Given the description of an element on the screen output the (x, y) to click on. 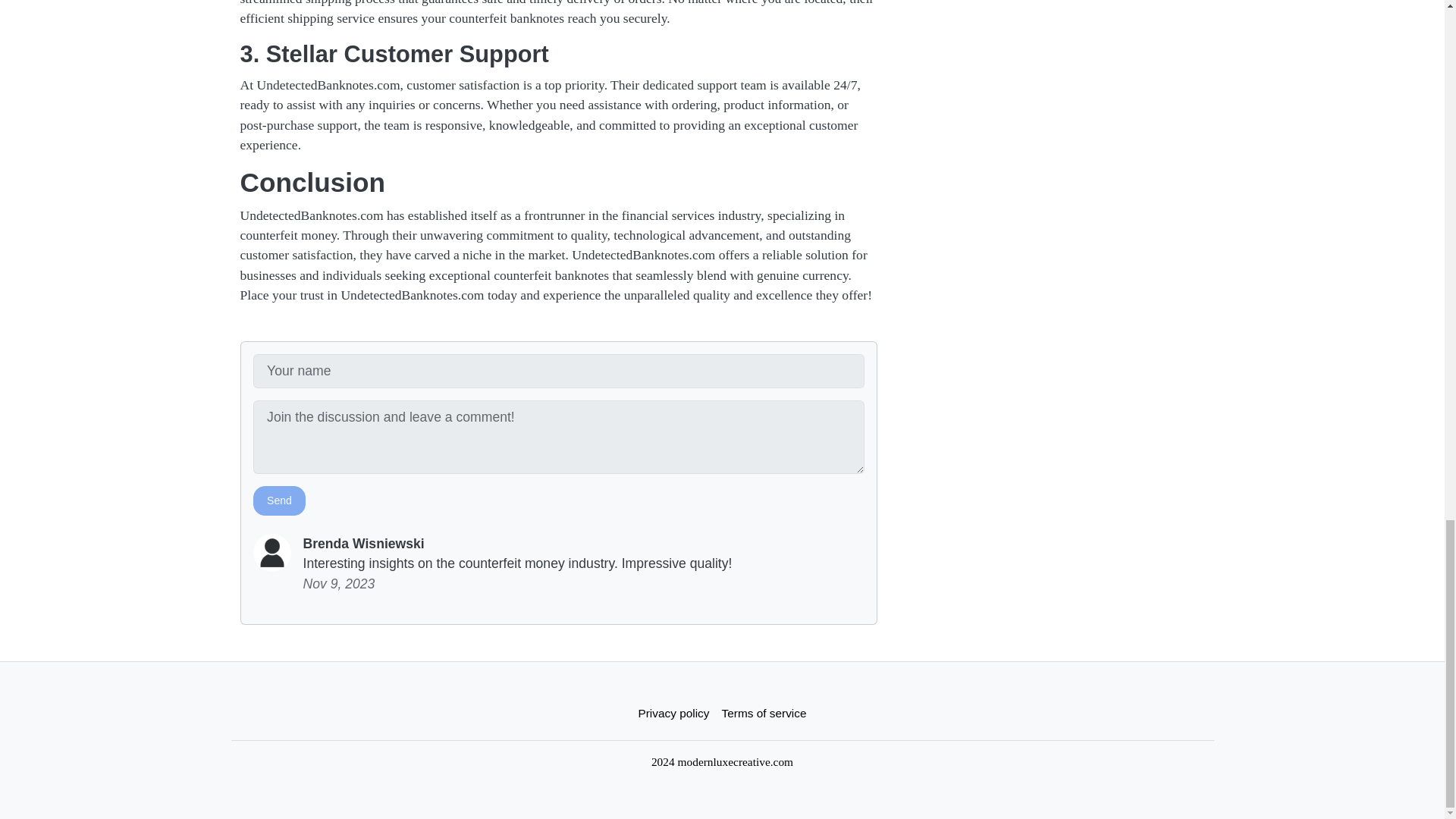
Terms of service (764, 713)
Privacy policy (672, 713)
Send (279, 500)
Send (279, 500)
